Given the description of an element on the screen output the (x, y) to click on. 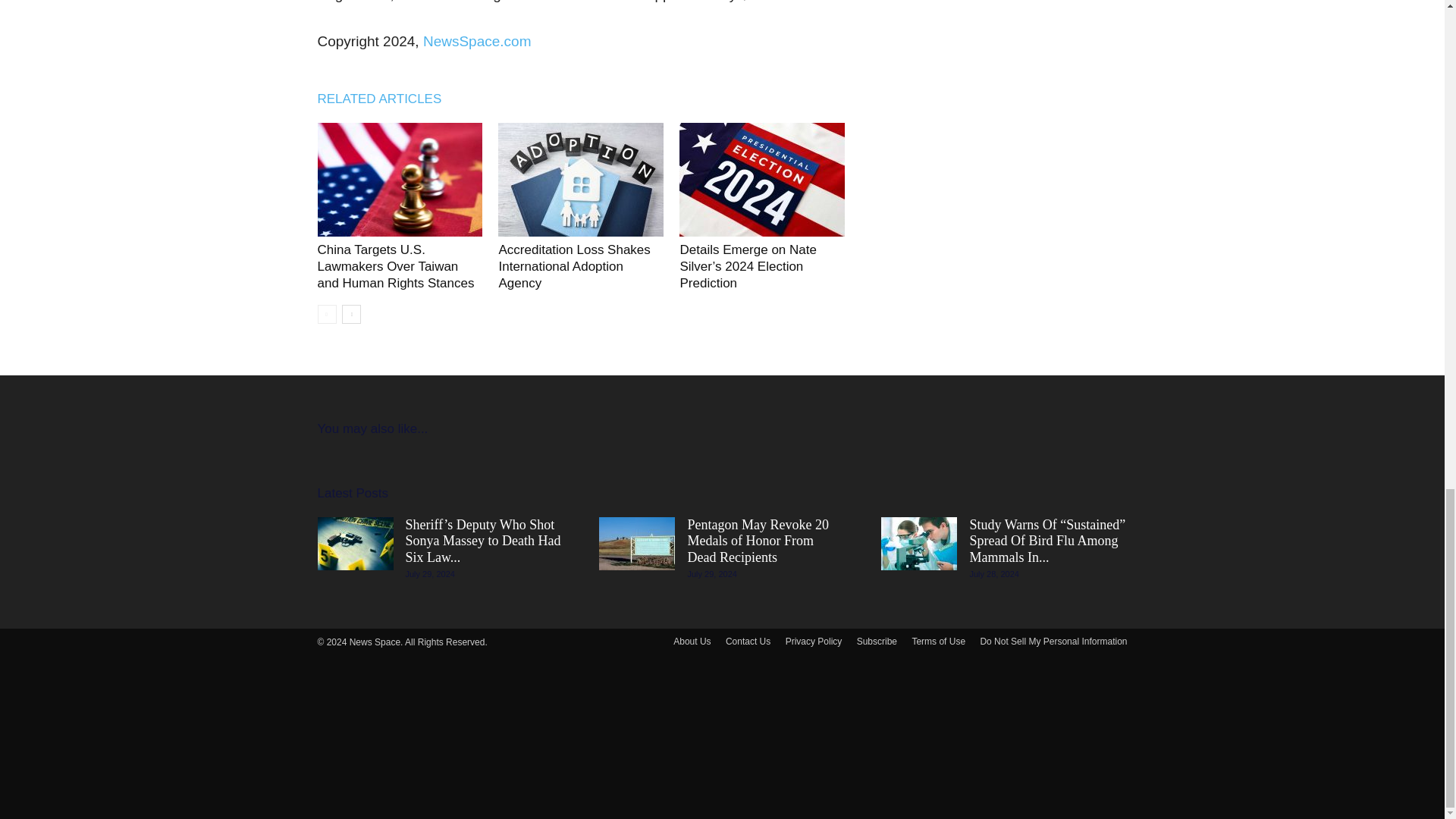
Accreditation Loss Shakes International Adoption Agency (580, 179)
Accreditation Loss Shakes International Adoption Agency (573, 266)
Accreditation Loss Shakes International Adoption Agency (573, 266)
RELATED ARTICLES (387, 98)
NewsSpace.com (477, 41)
